Given the description of an element on the screen output the (x, y) to click on. 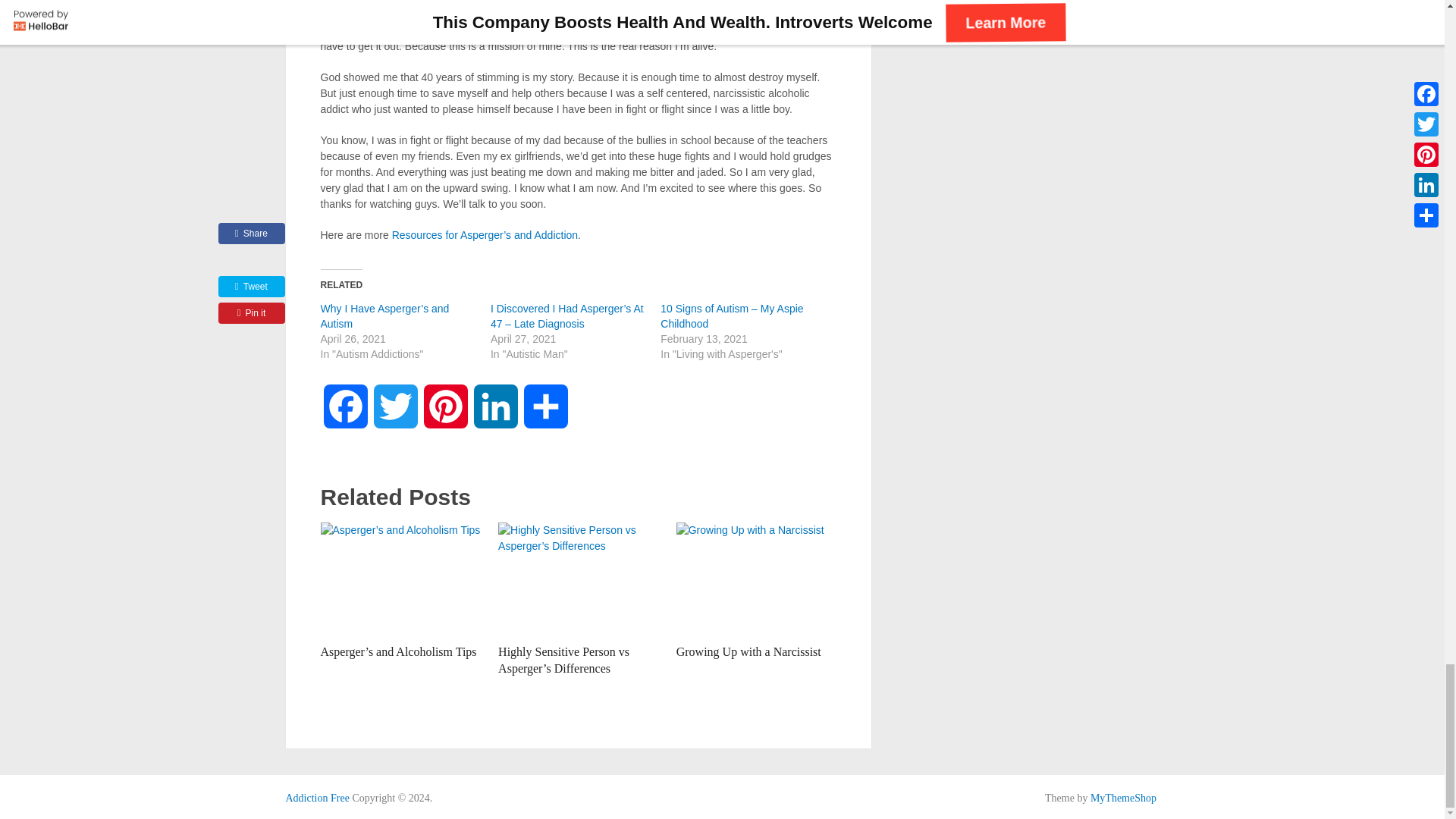
Growing Up with a Narcissist (756, 579)
